Given the description of an element on the screen output the (x, y) to click on. 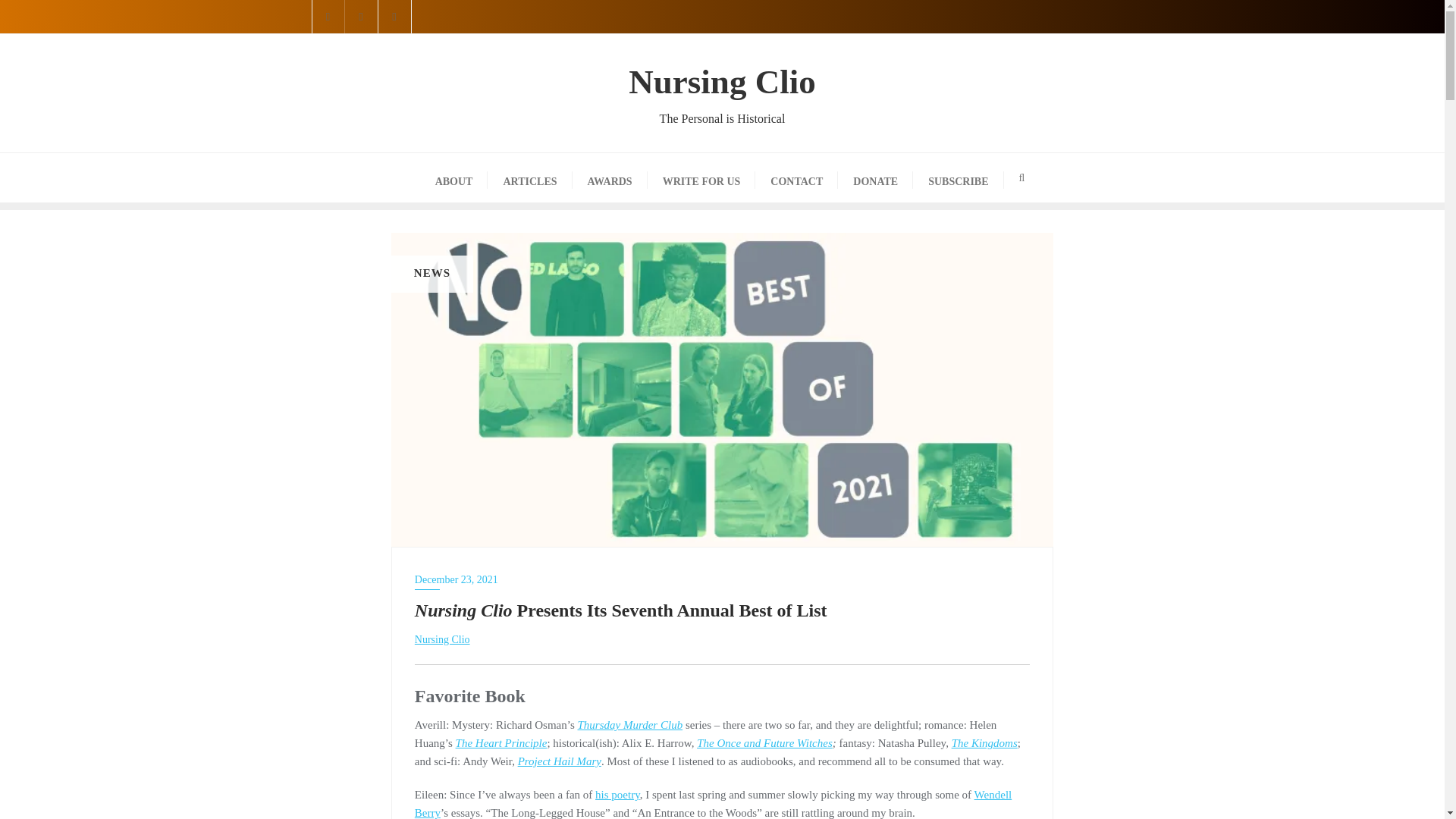
The Once and Future Witches (764, 743)
The Heart Principle (501, 743)
Thursday Murder Club (630, 725)
WRITE FOR US (701, 177)
his poetry (617, 794)
Nursing Clio (442, 639)
AWARDS (609, 177)
ARTICLES (529, 177)
December 23, 2021 (721, 579)
Project Hail Mary (721, 93)
DONATE (559, 761)
The Kingdoms (875, 177)
CONTACT (984, 743)
ABOUT (796, 177)
